Given the description of an element on the screen output the (x, y) to click on. 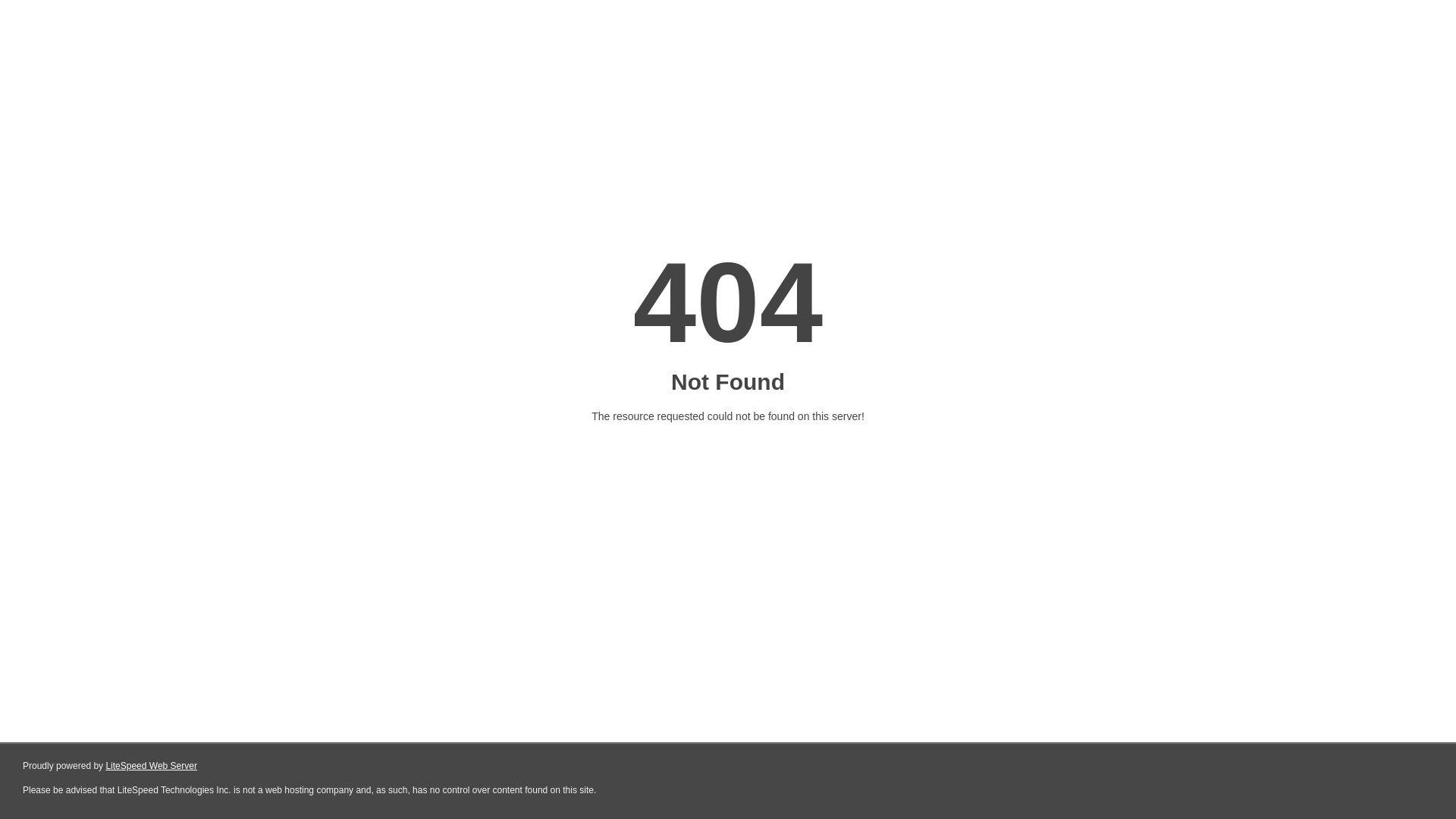
LiteSpeed Web Server Element type: text (151, 765)
